Given the description of an element on the screen output the (x, y) to click on. 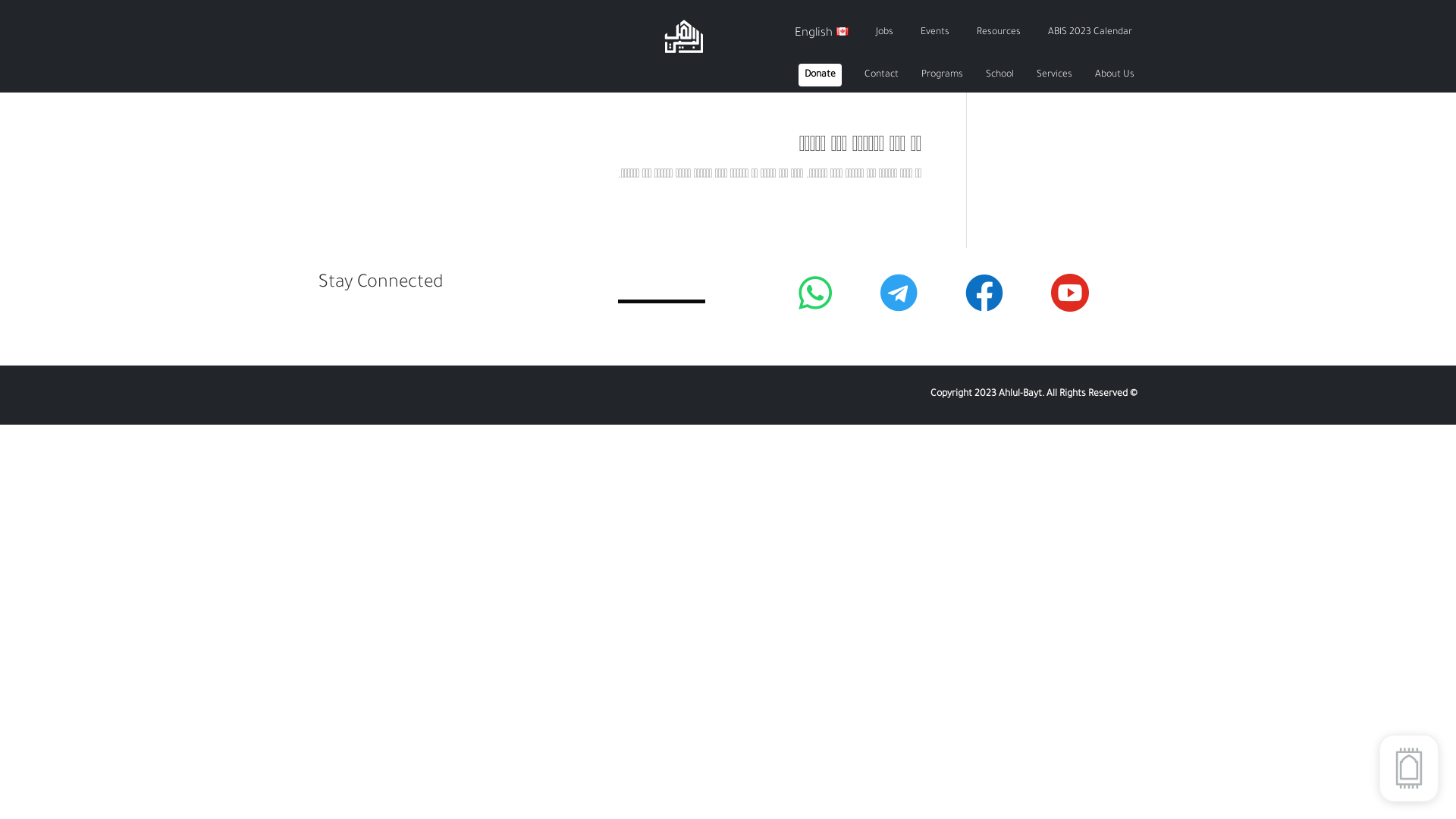
Jobs Element type: text (884, 33)
abis-iconr_logo-icon-01 Element type: hover (683, 36)
Resources Element type: text (998, 33)
Programs Element type: text (942, 74)
About Us Element type: text (1114, 74)
Donate Element type: text (819, 74)
Services Element type: text (1054, 74)
School Element type: text (999, 74)
ABIS 2023 Calendar Element type: text (1090, 33)
Contact Element type: text (881, 74)
Events Element type: text (934, 33)
English Element type: text (821, 33)
